Given the description of an element on the screen output the (x, y) to click on. 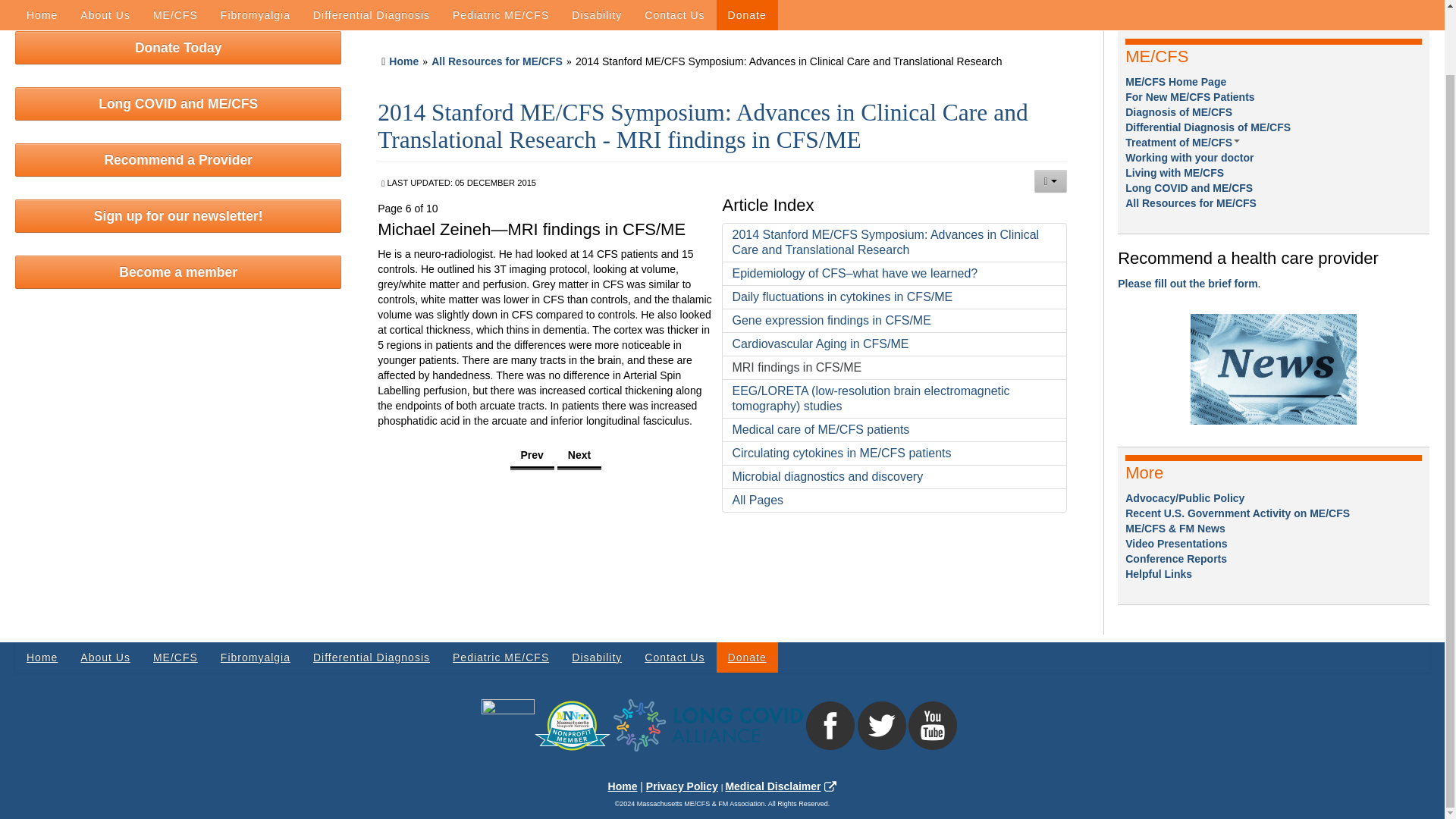
Become a member (177, 272)
Recommend a Provider (177, 159)
Next (579, 455)
Prev (532, 455)
Recommend a provider. Link opens in a new window. (1187, 283)
All Pages (893, 500)
Sign up for our newsletter! (177, 215)
Microbial diagnostics and discovery (893, 476)
Home (403, 61)
Donate Today (177, 47)
